Given the description of an element on the screen output the (x, y) to click on. 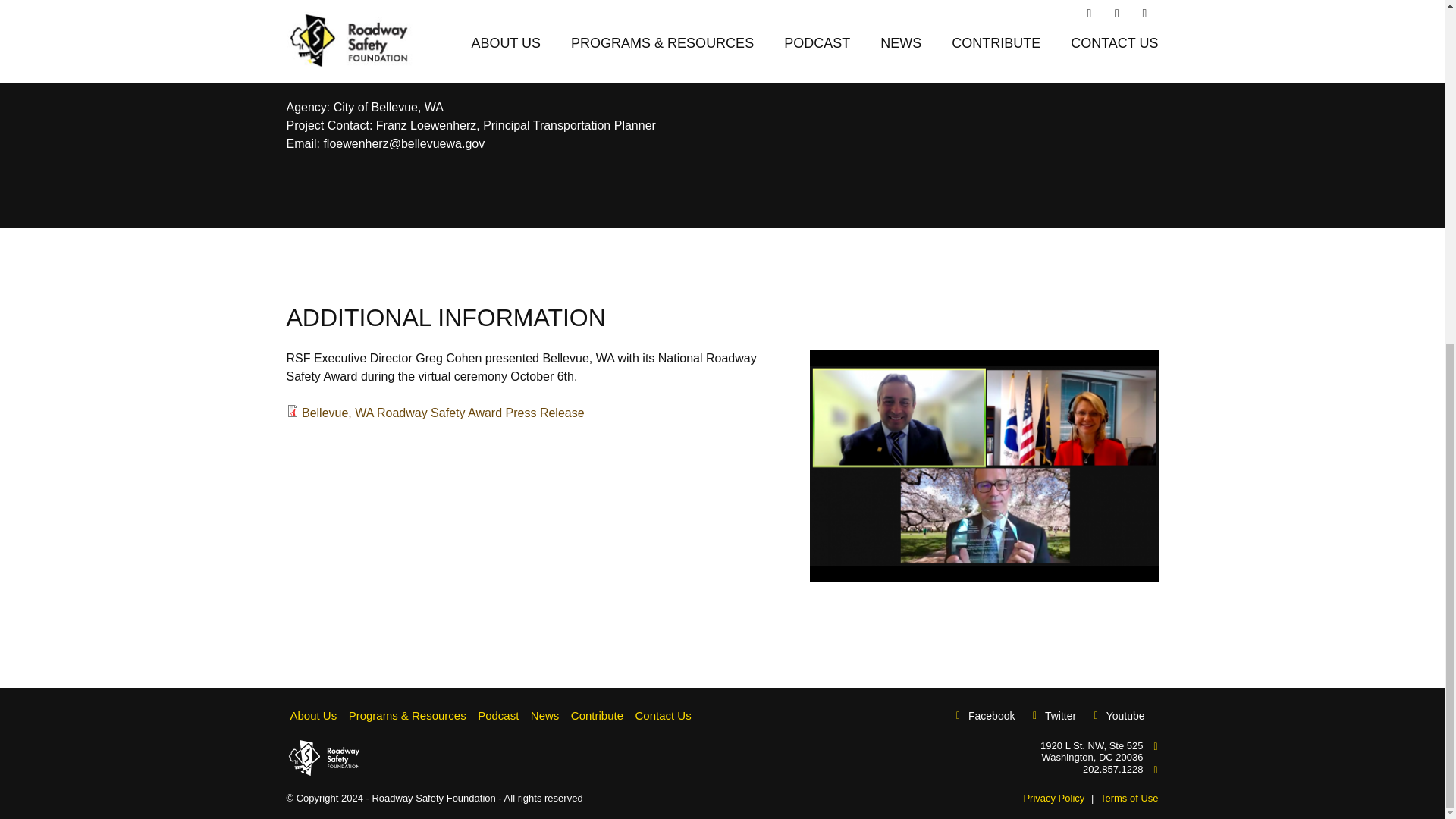
202.857.1228 (1112, 768)
Bellevue, WA Roadway Safety Award Press Release (443, 412)
Facebook (991, 716)
About Us (314, 715)
Check our Twitter profile (1060, 716)
Terms of Use (1129, 797)
News (545, 715)
Contact Us (662, 715)
Twitter (1060, 716)
Youtube (1125, 716)
Contribute (597, 715)
Bellevue WA wins 2021 National Roadway Safety Award.docx.pdf (443, 412)
Privacy Policy (1053, 797)
Check our  Facebook profile (991, 716)
Podcast (498, 715)
